Given the description of an element on the screen output the (x, y) to click on. 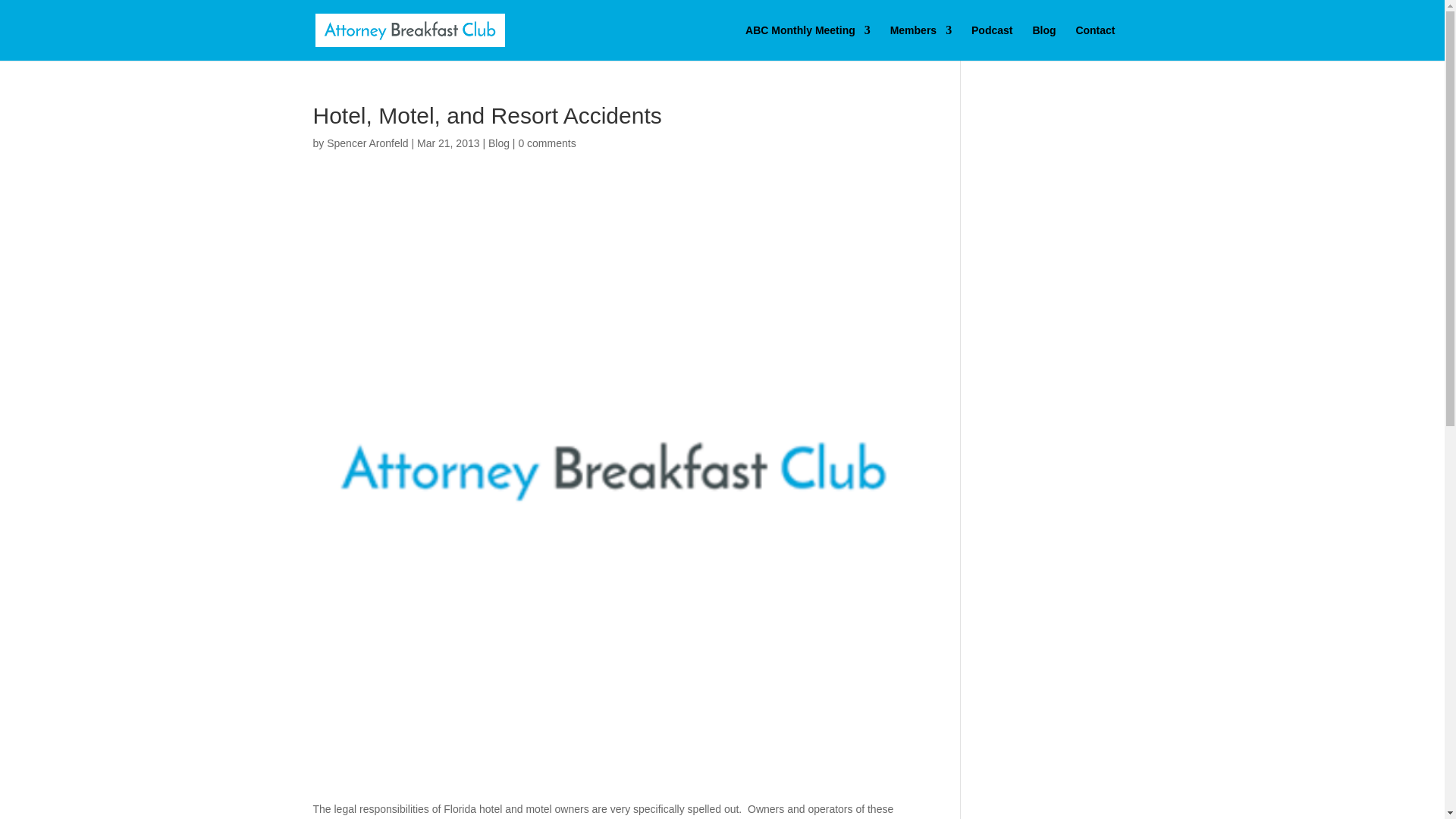
0 comments (546, 143)
ABC Monthly Meeting (807, 42)
Posts by Spencer Aronfeld (366, 143)
Podcast (991, 42)
Members (920, 42)
Blog (498, 143)
Contact (1095, 42)
Blog (1043, 42)
Spencer Aronfeld (366, 143)
